Given the description of an element on the screen output the (x, y) to click on. 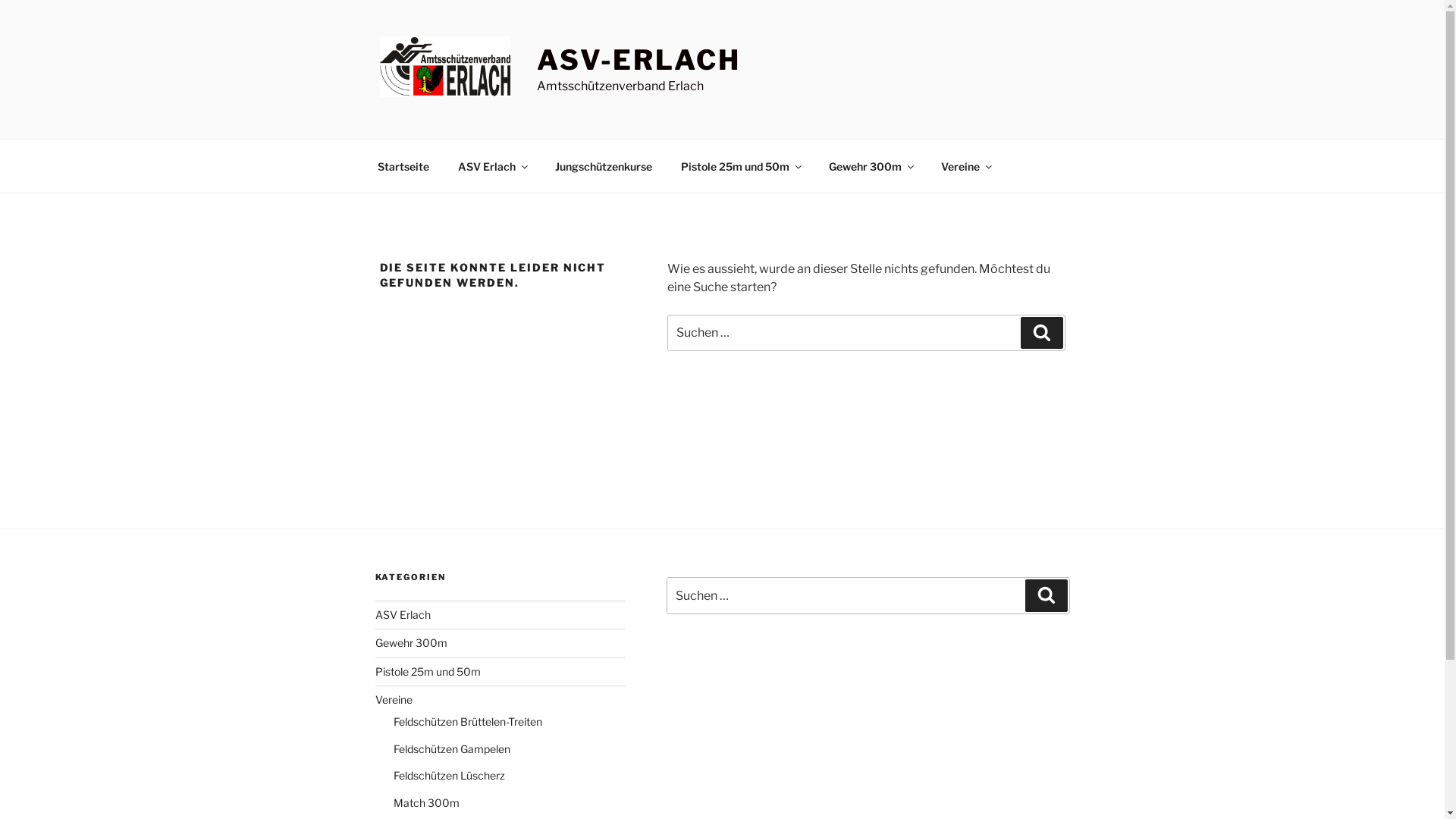
ASV Erlach Element type: text (491, 165)
Suchen Element type: text (1041, 332)
ASV Erlach Element type: text (401, 614)
Pistole 25m und 50m Element type: text (739, 165)
Match 300m Element type: text (425, 802)
Pistole 25m und 50m Element type: text (427, 671)
Gewehr 300m Element type: text (870, 165)
ASV-ERLACH Element type: text (638, 59)
Vereine Element type: text (392, 699)
Vereine Element type: text (966, 165)
Gewehr 300m Element type: text (410, 642)
Startseite Element type: text (403, 165)
Suchen Element type: text (1046, 595)
